Given the description of an element on the screen output the (x, y) to click on. 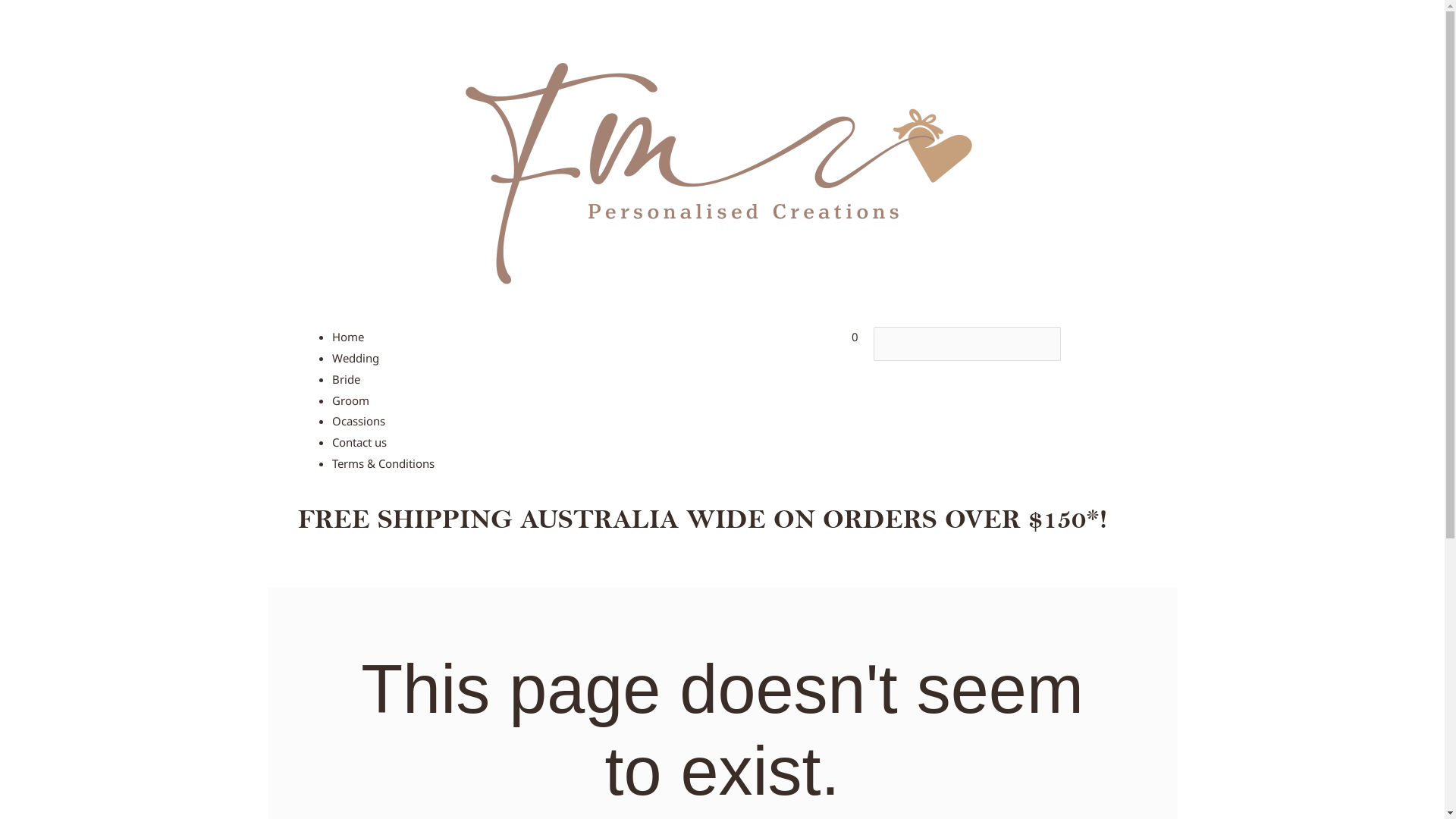
Contact us Element type: text (359, 441)
Groom Element type: text (350, 399)
Ocassions Element type: text (358, 420)
Terms & Conditions Element type: text (383, 462)
Wedding Element type: text (355, 357)
Bride Element type: text (346, 378)
Search Element type: hover (966, 343)
0 Element type: text (721, 337)
Home Element type: text (348, 336)
